Given the description of an element on the screen output the (x, y) to click on. 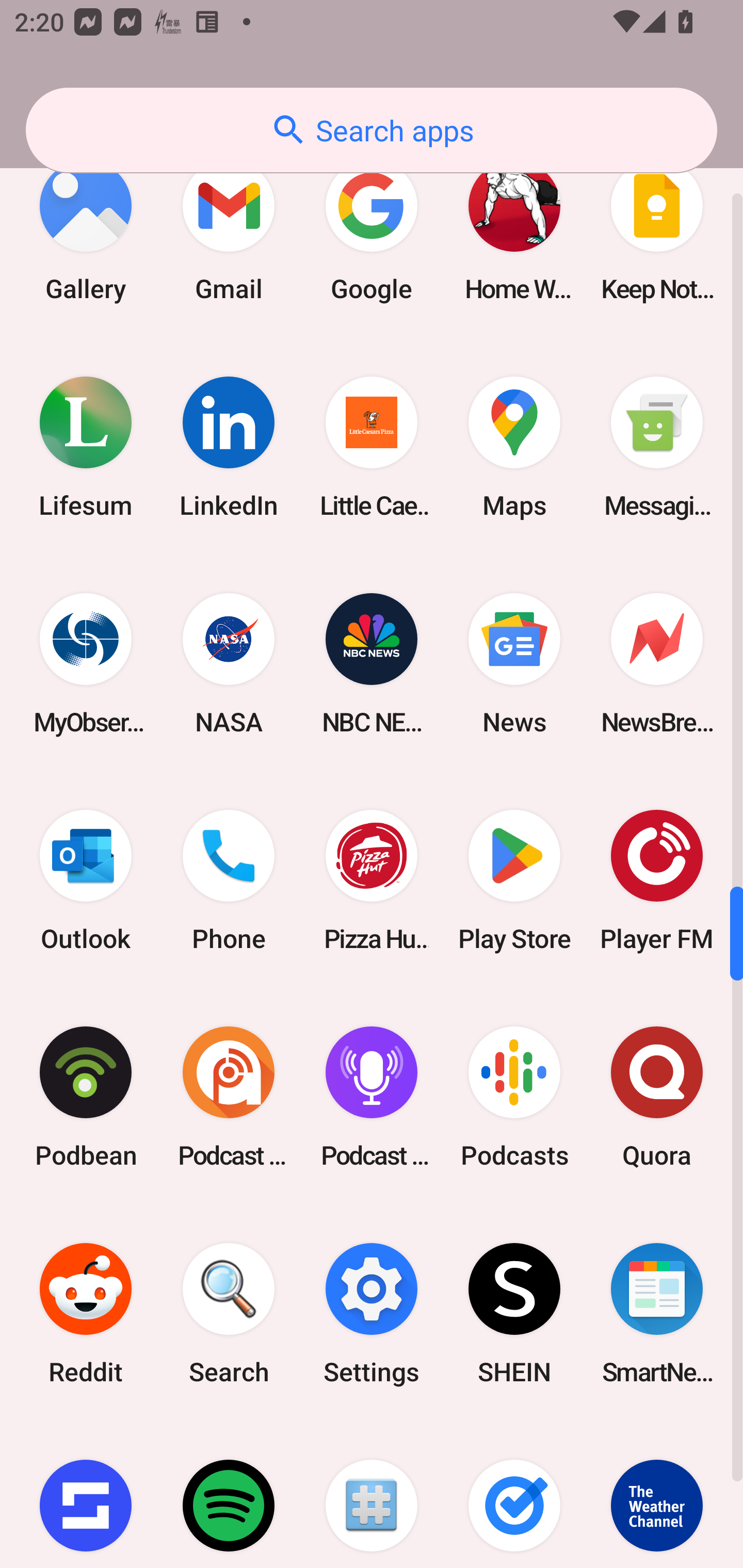
  Search apps (371, 130)
Gallery (85, 230)
Gmail (228, 230)
Google (371, 230)
Home Workout (514, 230)
Keep Notes (656, 230)
Lifesum (85, 446)
LinkedIn (228, 446)
Little Caesars Pizza (371, 446)
Maps (514, 446)
Messaging (656, 446)
MyObservatory (85, 663)
NASA (228, 663)
NBC NEWS (371, 663)
News (514, 663)
NewsBreak (656, 663)
Outlook (85, 880)
Phone (228, 880)
Pizza Hut HK & Macau (371, 880)
Play Store (514, 880)
Player FM (656, 880)
Podbean (85, 1097)
Podcast Addict (228, 1097)
Podcast Player (371, 1097)
Podcasts (514, 1097)
Quora (656, 1097)
Reddit (85, 1313)
Search (228, 1313)
Settings (371, 1313)
SHEIN (514, 1313)
SmartNews (656, 1313)
Sofascore (85, 1495)
Spotify (228, 1495)
Superuser (371, 1495)
Tasks (514, 1495)
The Weather Channel (656, 1495)
